Given the description of an element on the screen output the (x, y) to click on. 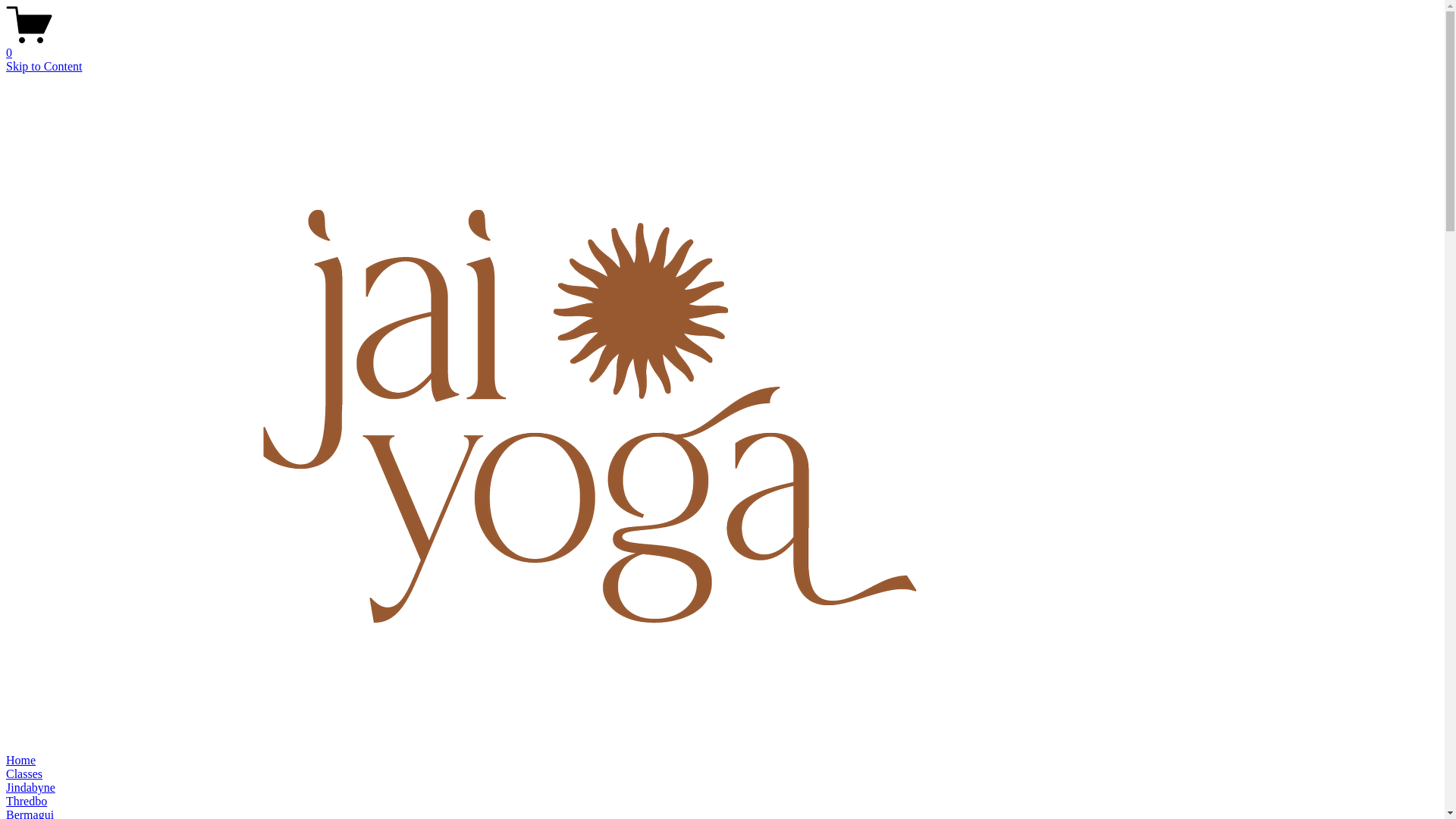
0 Element type: text (722, 45)
Jindabyne Element type: text (30, 787)
Classes Element type: text (24, 773)
Home Element type: text (20, 759)
Skip to Content Element type: text (43, 65)
Thredbo Element type: text (26, 800)
